Given the description of an element on the screen output the (x, y) to click on. 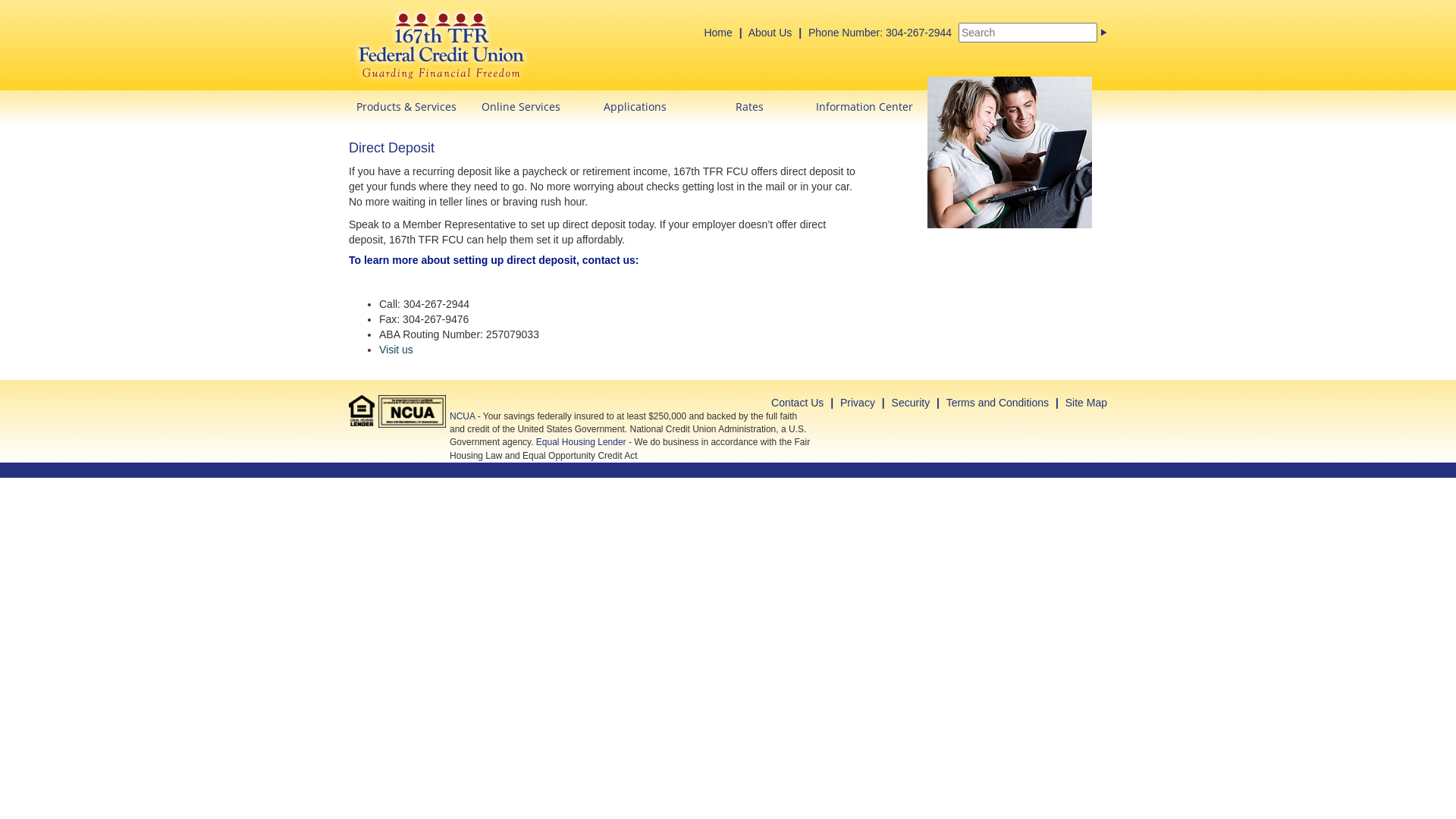
Equal Housing Lender Element type: hover (361, 410)
Visit us Element type: text (396, 349)
couple with laptop banner Element type: hover (1009, 152)
National Credit Union Administration Element type: hover (411, 411)
167th TFR Federal Credit Union Element type: hover (441, 44)
Contact Us Element type: text (797, 402)
Site Map Element type: text (1086, 402)
Online Services Element type: text (520, 103)
Home Element type: text (717, 32)
About Us Element type: text (770, 32)
Rates Element type: text (749, 103)
Applications Element type: text (634, 103)
Products & Services Element type: text (405, 103)
Terms and Conditions Element type: text (997, 402)
Privacy Element type: text (857, 402)
Security Element type: text (910, 402)
Information Center Element type: text (863, 103)
